Given the description of an element on the screen output the (x, y) to click on. 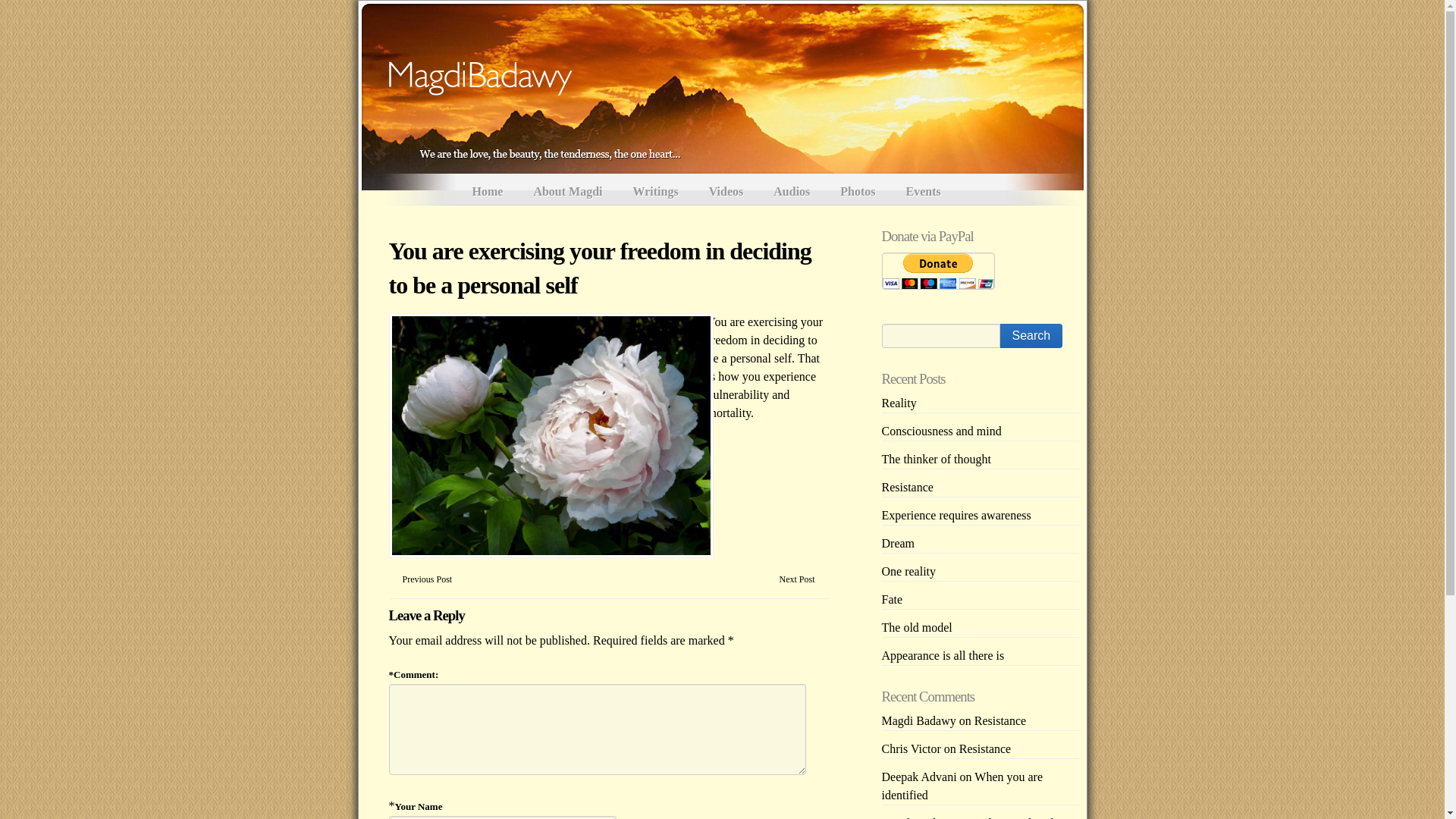
Previous Post (426, 579)
Resistance (984, 748)
Videos (726, 187)
Dream (897, 543)
Audios (791, 187)
Search (1030, 335)
One reality (908, 571)
Magdi Badawy (533, 152)
About Magdi (567, 187)
Experience requires awareness (955, 514)
Video: Reality does not come and go (974, 817)
Consciousness and mind (940, 431)
Next Post (795, 579)
Home (487, 187)
Photos (857, 187)
